Given the description of an element on the screen output the (x, y) to click on. 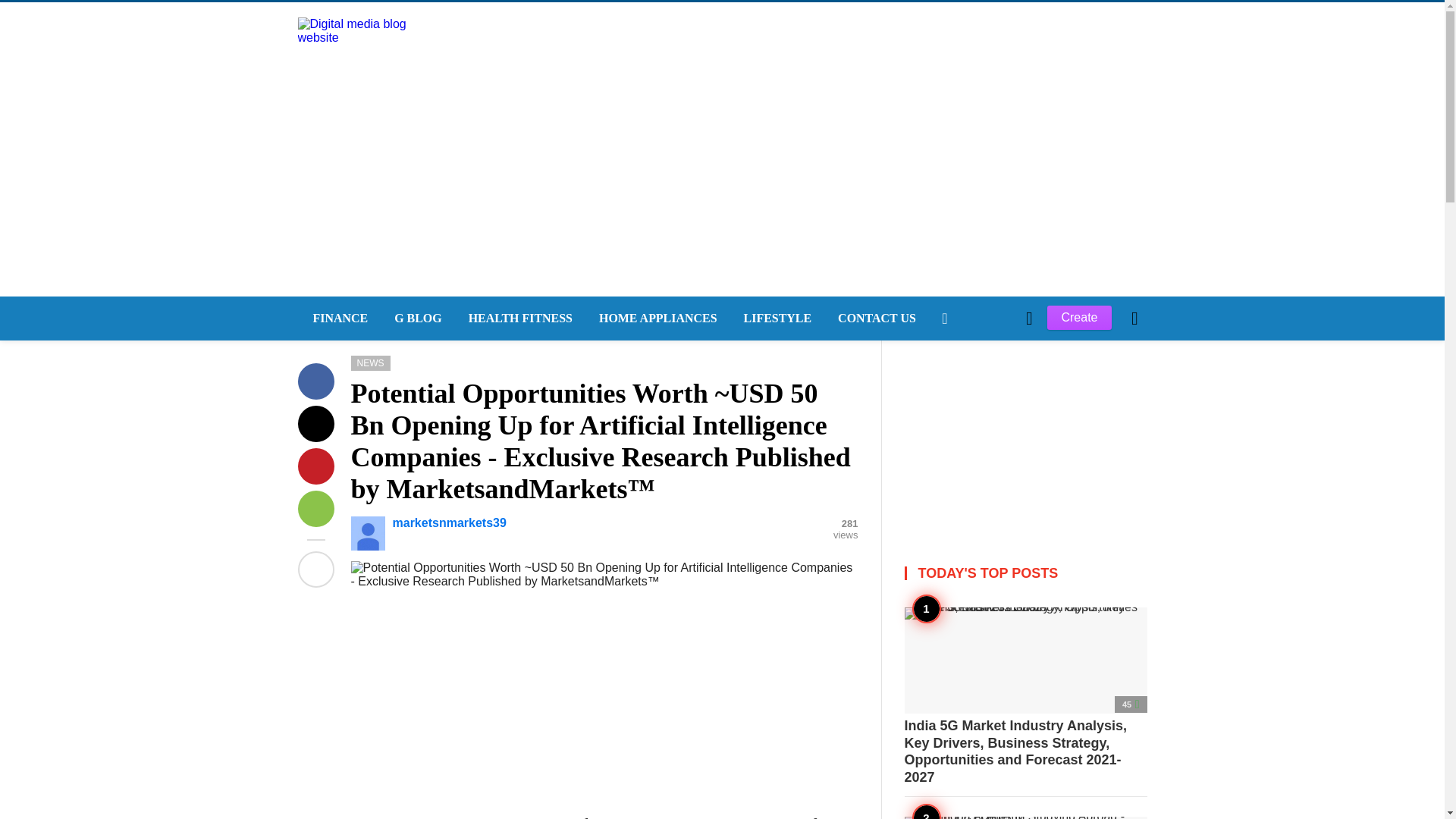
G BLOG (415, 318)
HOME APPLIANCES (656, 318)
Advertisement (603, 694)
Log in (962, 575)
CONTACT US (874, 318)
HEALTH FITNESS (517, 318)
sign up (964, 575)
LIFESTYLE (776, 318)
